Given the description of an element on the screen output the (x, y) to click on. 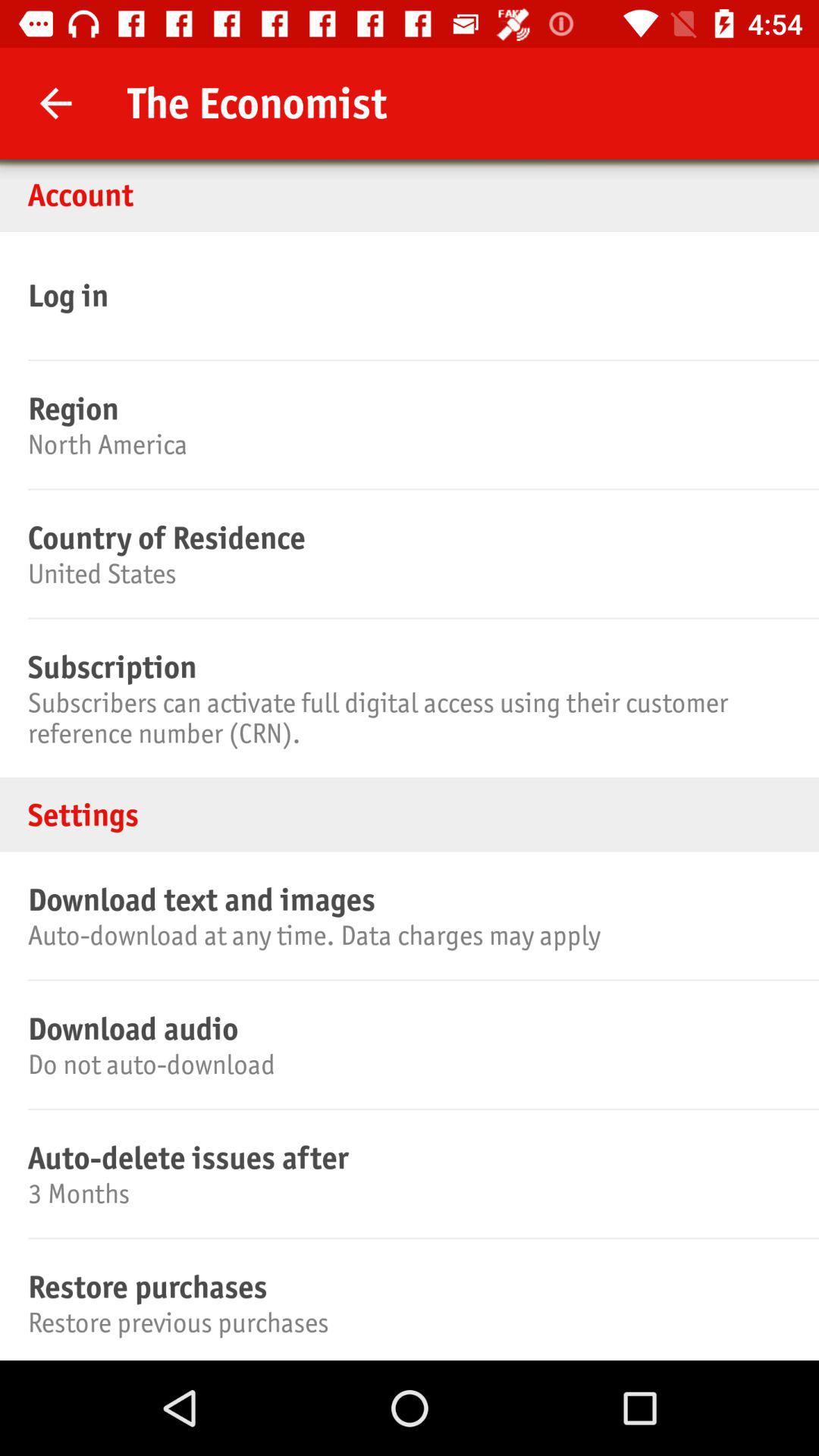
scroll until the download audio (407, 1028)
